Given the description of an element on the screen output the (x, y) to click on. 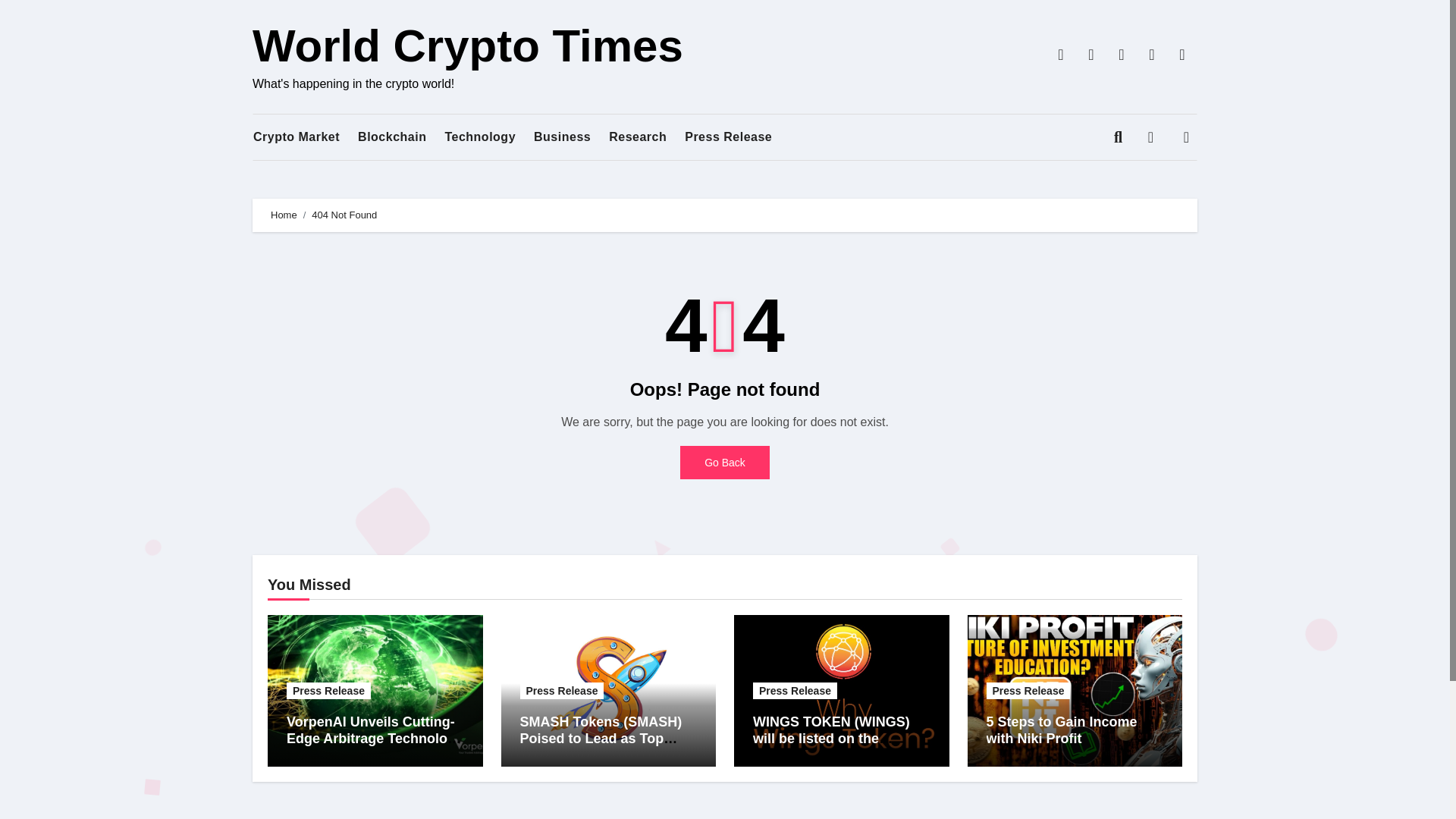
Business (562, 137)
Press Release (727, 137)
Press Release (328, 690)
Blockchain (392, 137)
Permalink to: 5 Steps to Gain Income with Niki Profit (1061, 730)
Home (283, 214)
Press Release (561, 690)
Crypto Market (296, 137)
Press Release (727, 137)
5 Steps to Gain Income with Niki Profit (1061, 730)
Research (637, 137)
Business (562, 137)
Research (637, 137)
